Given the description of an element on the screen output the (x, y) to click on. 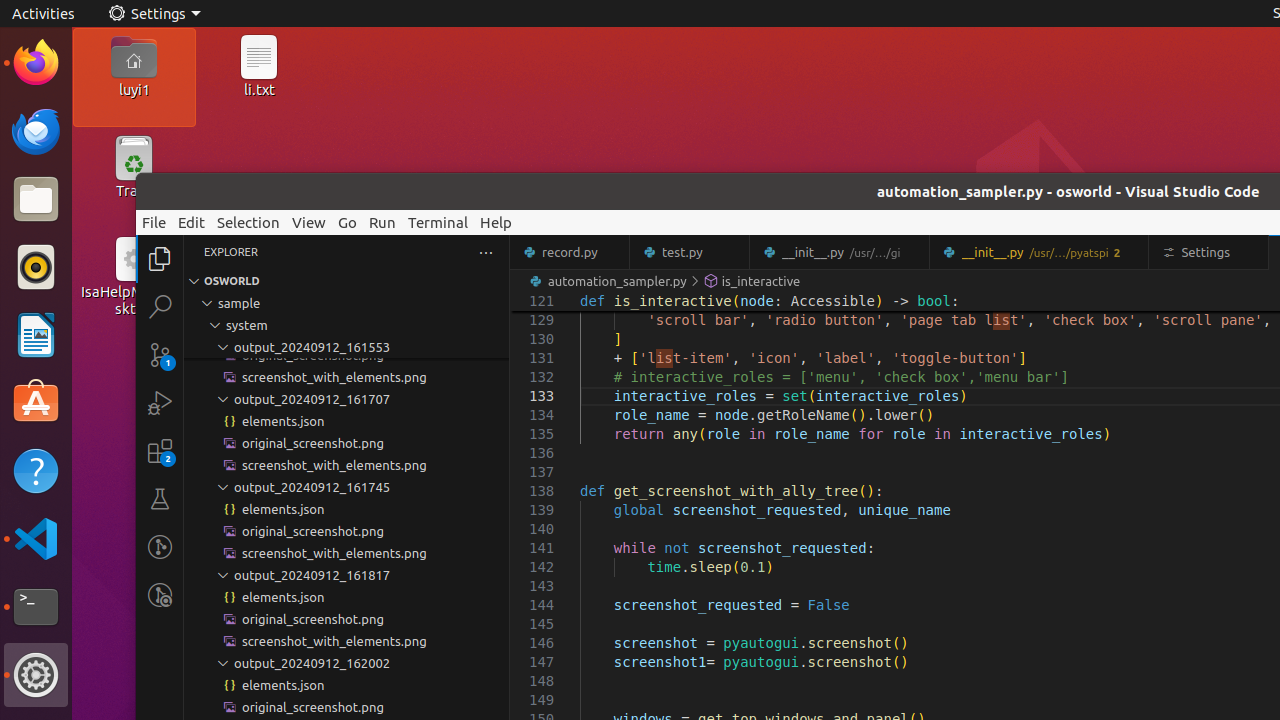
Settings Element type: menu (154, 13)
Terminal Element type: push-button (36, 607)
